Given the description of an element on the screen output the (x, y) to click on. 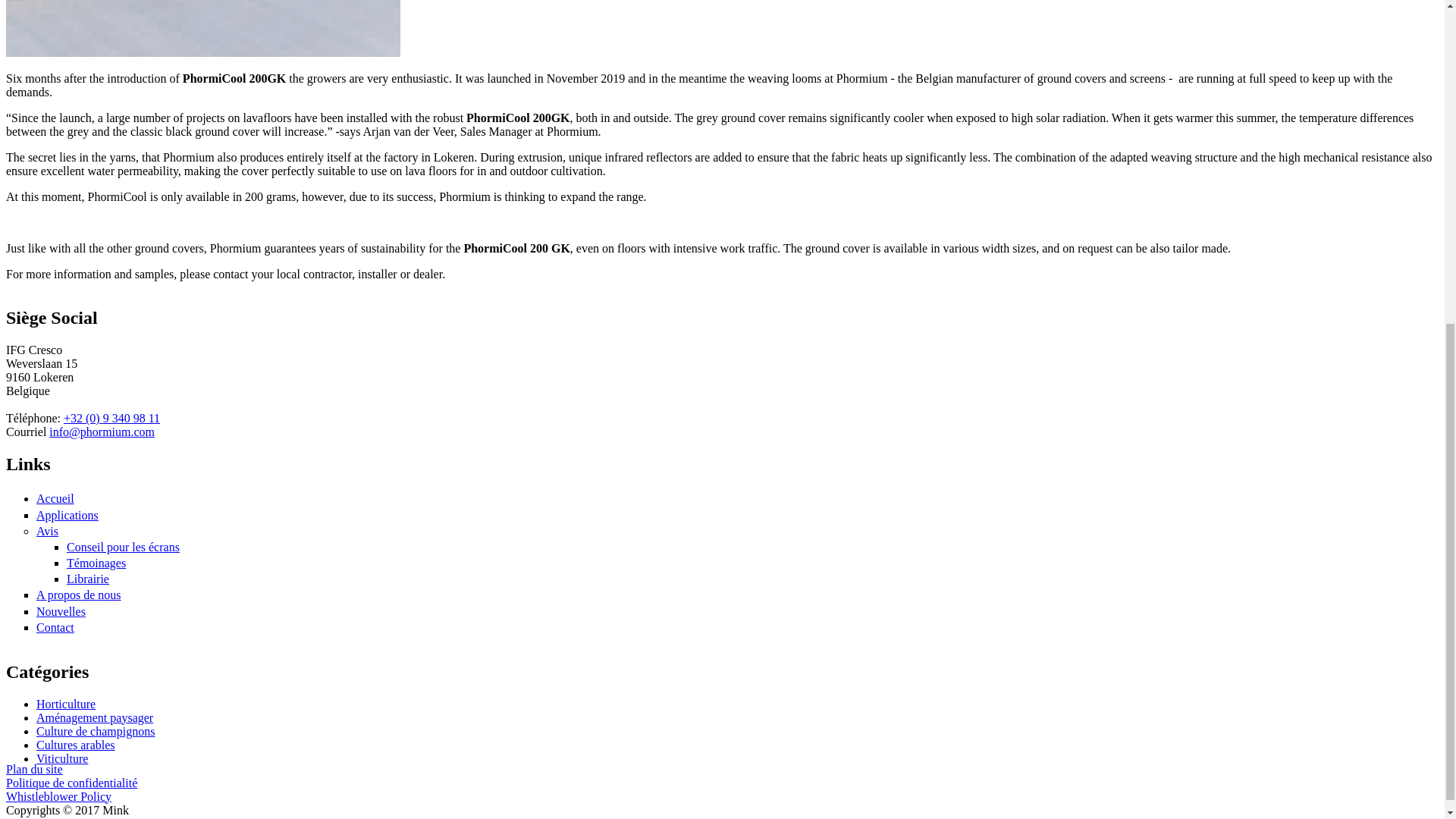
Cultures arables (75, 744)
Contact (55, 626)
Plan du site (33, 768)
Nouvelles (60, 611)
Culture de champignons (95, 730)
A propos de nous (78, 594)
Horticulture (66, 703)
Whistleblower Policy (58, 796)
Avis (47, 530)
Librairie (87, 578)
Applications (67, 513)
Accueil (55, 498)
Viticulture (61, 758)
